Given the description of an element on the screen output the (x, y) to click on. 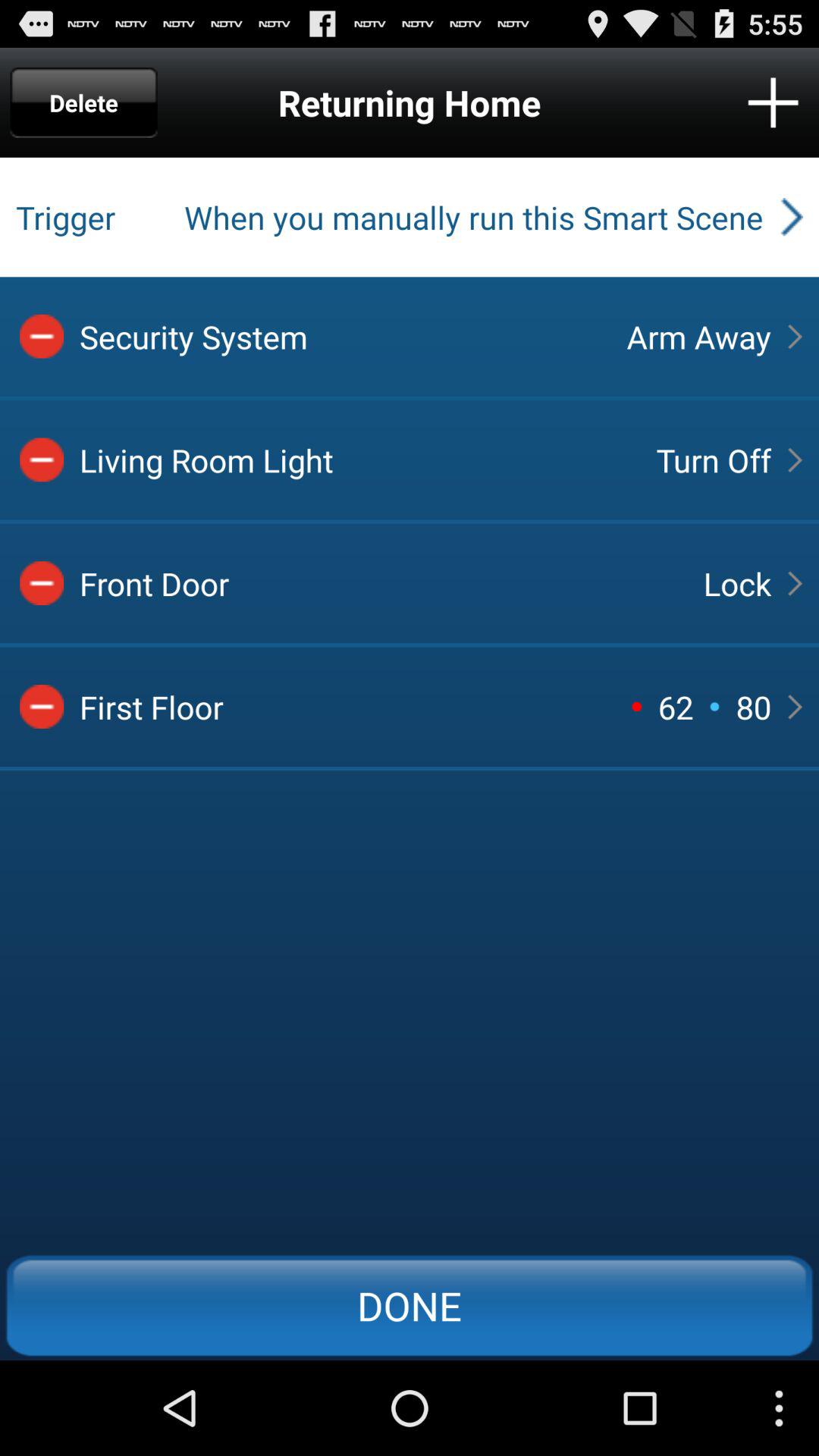
turn off app above 80 app (737, 583)
